Given the description of an element on the screen output the (x, y) to click on. 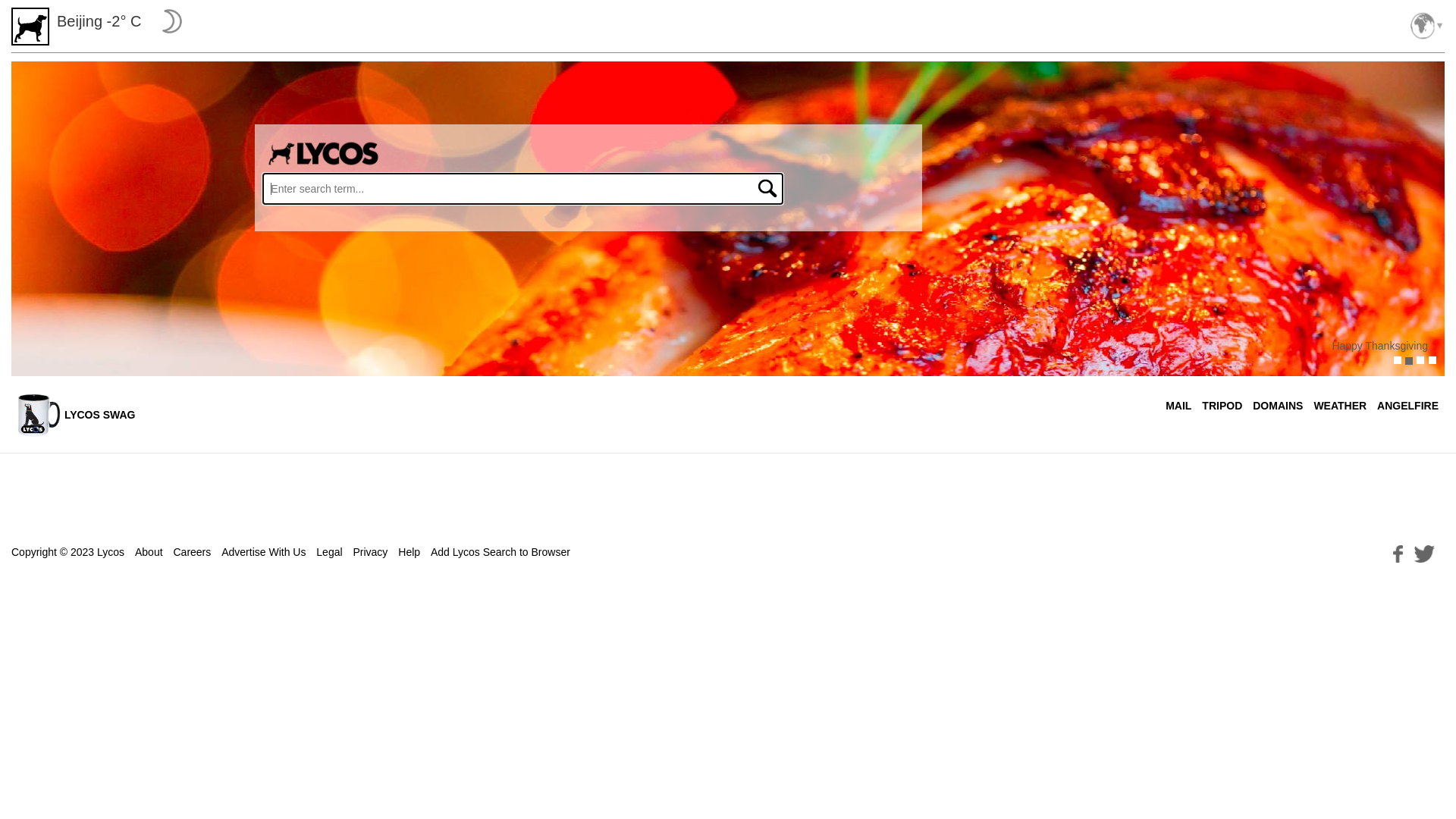
Help Element type: text (409, 552)
About Element type: text (148, 552)
TRIPOD Element type: text (1221, 405)
Legal Element type: text (329, 552)
Follow Lycos on Twitter Element type: hover (1424, 552)
Advertise With Us Element type: text (263, 552)
DOMAINS Element type: text (1277, 405)
Privacy Element type: text (369, 552)
WEATHER Element type: text (1339, 405)
Friend Lycos on Facebook Element type: hover (1397, 552)
MAIL Element type: text (1178, 405)
ANGELFIRE Element type: text (1407, 405)
Careers Element type: text (191, 552)
Add Lycos Search to Browser Element type: text (500, 552)
LYCOS SWAG Element type: text (75, 414)
